Given the description of an element on the screen output the (x, y) to click on. 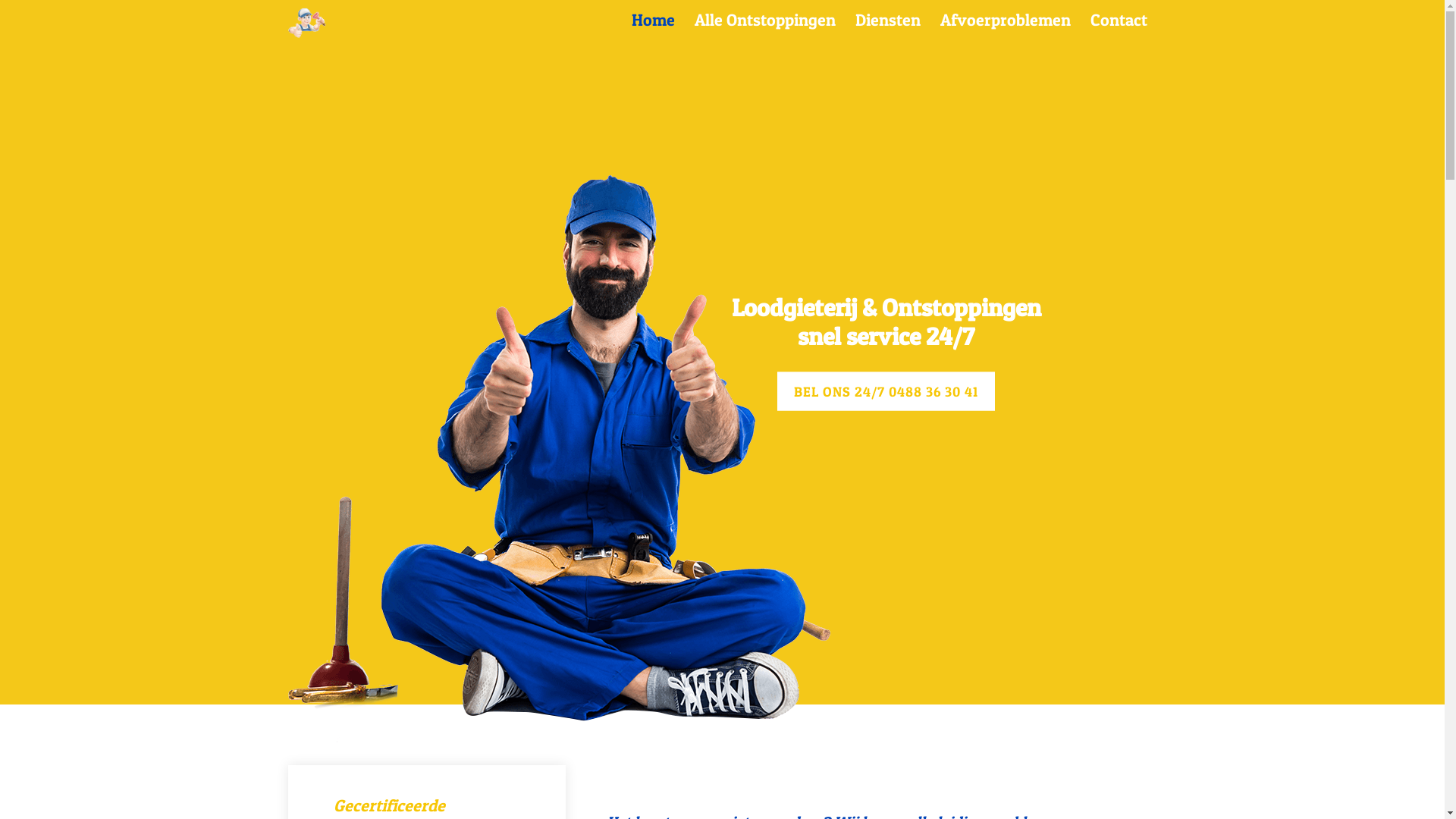
24/7 snel service Element type: hover (559, 458)
Afvoerproblemen Element type: text (1004, 19)
ontstoppingen en loodgietersdiensten 24/7 snel service Element type: hover (307, 22)
Diensten Element type: text (886, 19)
Alle Ontstoppingen Element type: text (764, 19)
BEL ONS 24/7 0488 36 30 41 Element type: text (885, 391)
Contact Element type: text (1117, 19)
Home Element type: text (652, 19)
